Given the description of an element on the screen output the (x, y) to click on. 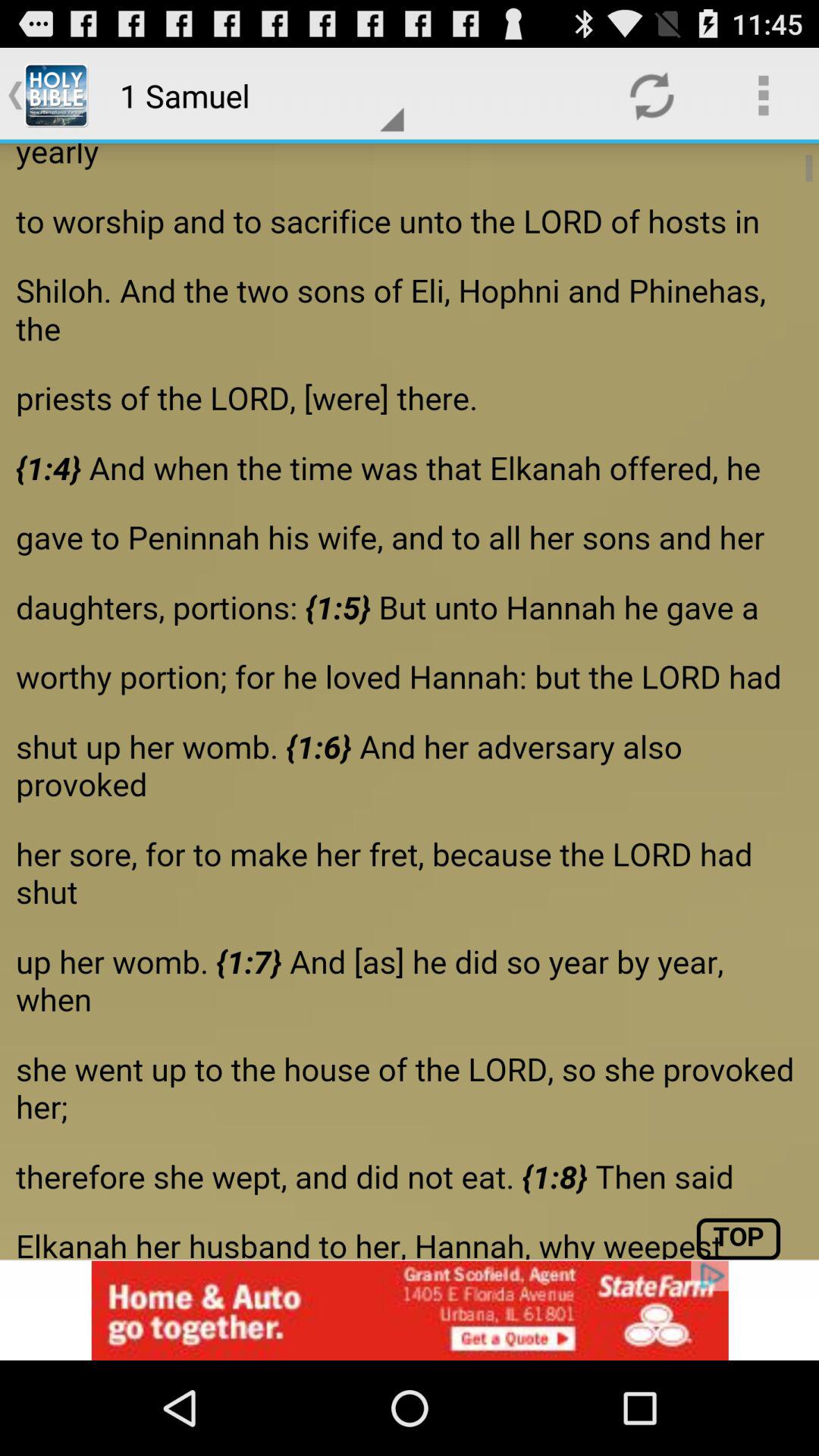
share the article (409, 701)
